Given the description of an element on the screen output the (x, y) to click on. 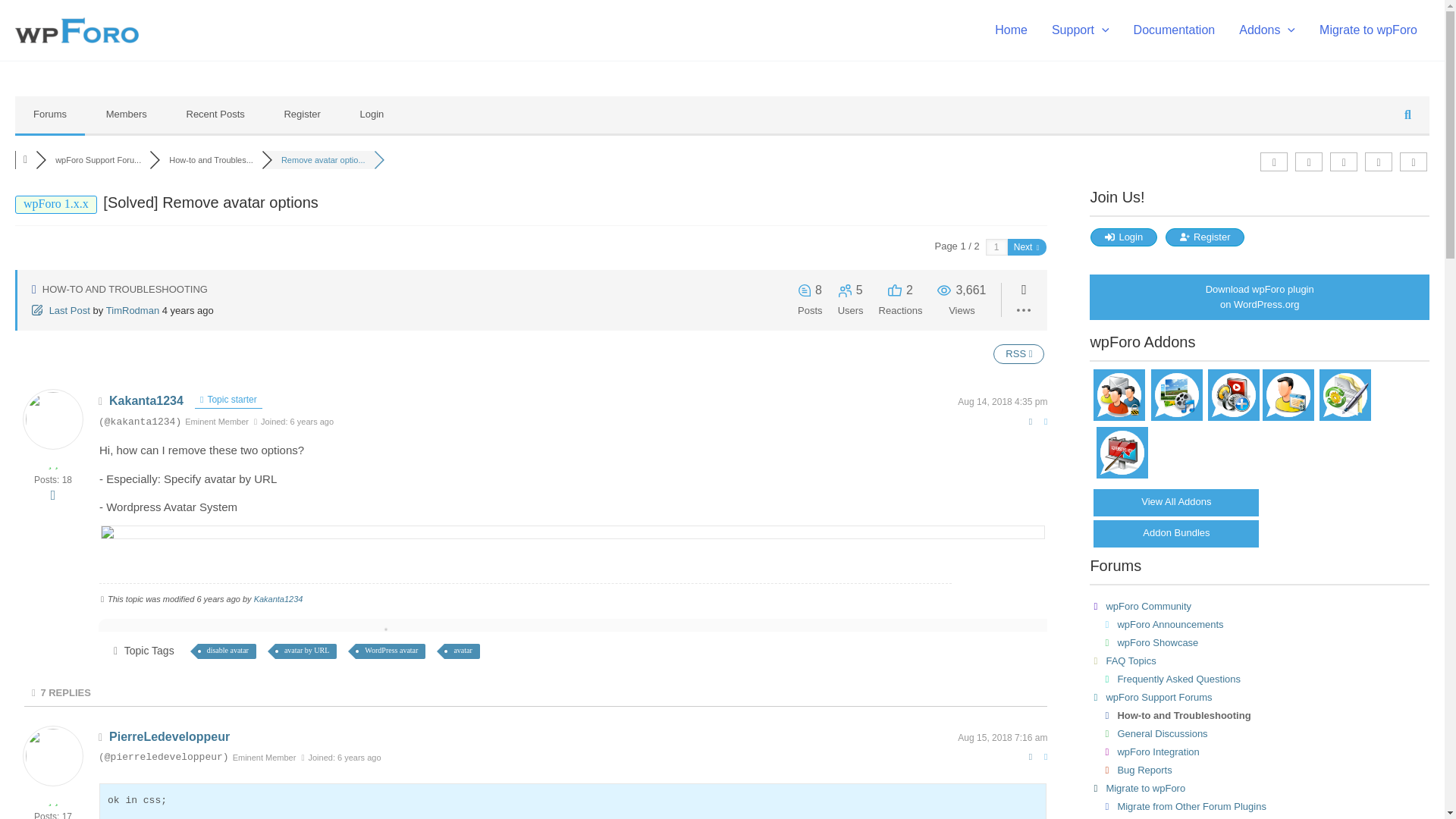
How-to and Troubleshooting (210, 159)
Forums (49, 114)
Select Page (996, 247)
wpForo Support Foru... (98, 159)
Documentation (1174, 30)
Support (1080, 30)
Member Rating Badge (53, 463)
Home (1010, 30)
More (53, 495)
Topic RSS Feed (1017, 353)
Login (370, 114)
Recent Posts (215, 114)
Kakanta1234 (146, 400)
wpForo Support Forums (98, 159)
